Given the description of an element on the screen output the (x, y) to click on. 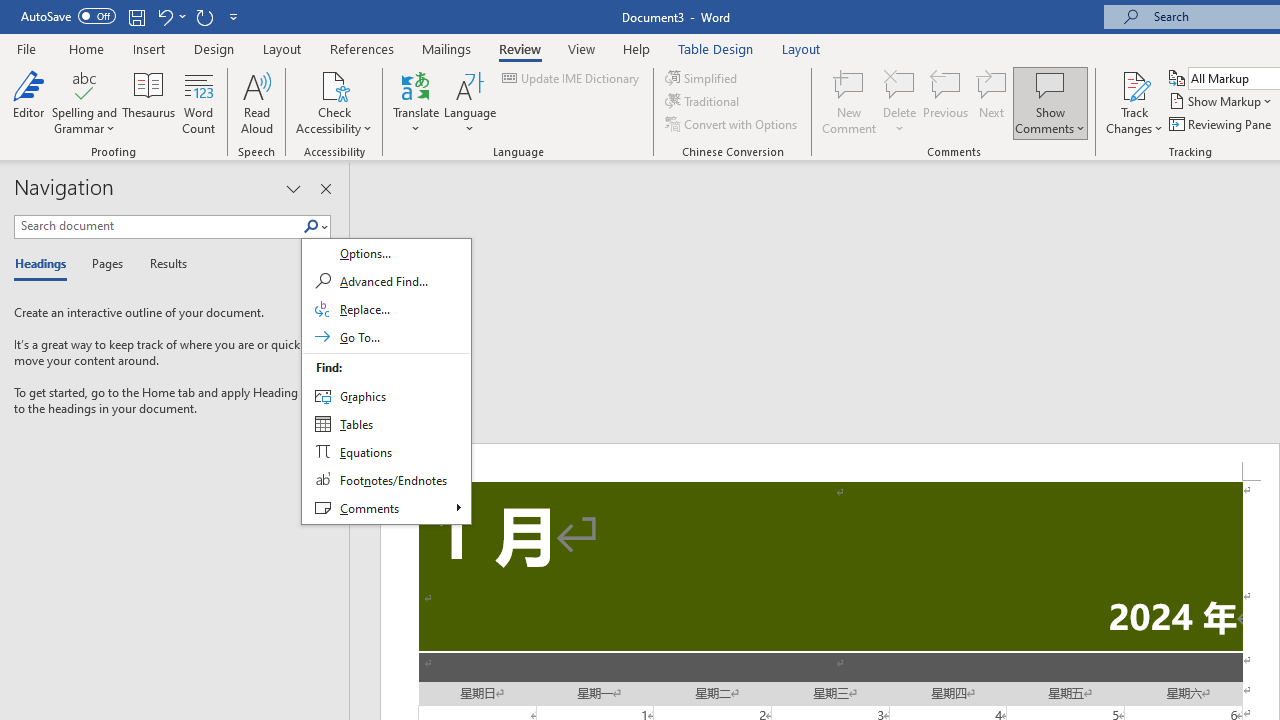
Convert with Options... (732, 124)
Translate (415, 102)
Check Accessibility (334, 102)
Show Markup (1222, 101)
Update IME Dictionary... (572, 78)
Next (991, 102)
Show Comments (1050, 84)
Spelling and Grammar (84, 84)
Spelling and Grammar (84, 102)
